Given the description of an element on the screen output the (x, y) to click on. 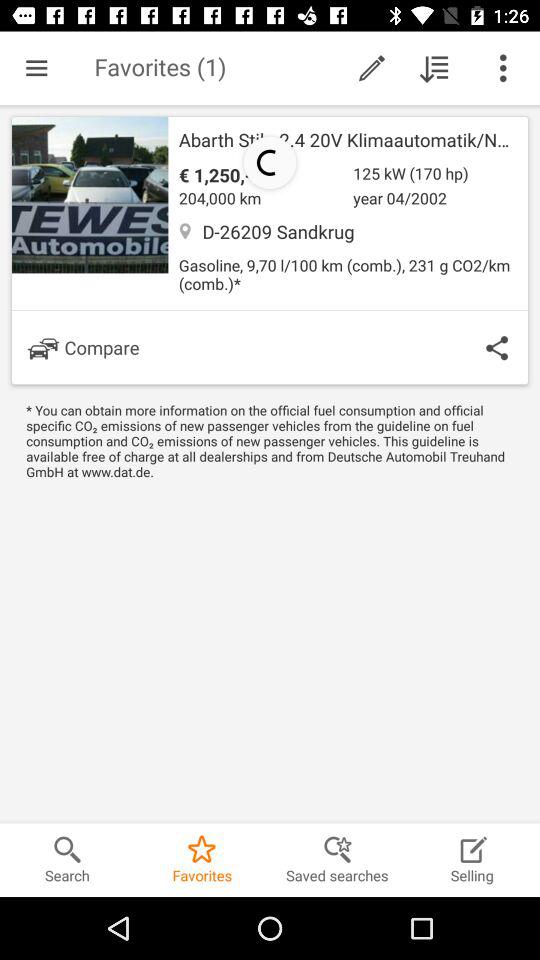
icon (434, 67)
